Given the description of an element on the screen output the (x, y) to click on. 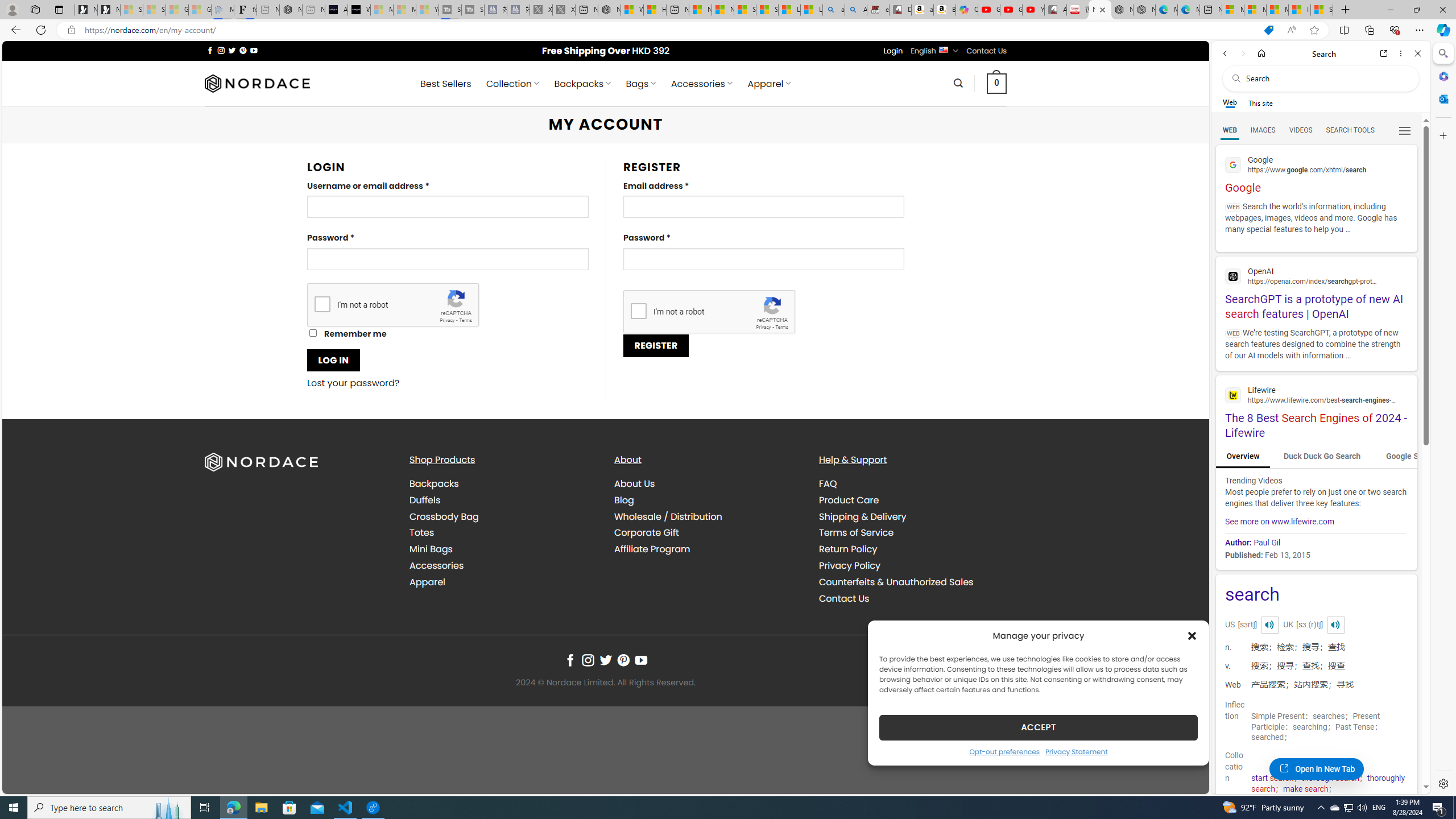
Wholesale / Distribution (708, 516)
WEB   (1230, 130)
Microsoft Start Sports - Sleeping (381, 9)
Privacy (763, 326)
Totes (502, 532)
Corporate Gift (708, 532)
See more on www.lifewire.com (1279, 521)
Contact Us (843, 598)
Web scope (1230, 102)
Overview (1242, 456)
Outlook (1442, 98)
Nordace - My Account (1099, 9)
Product Care (848, 499)
